Given the description of an element on the screen output the (x, y) to click on. 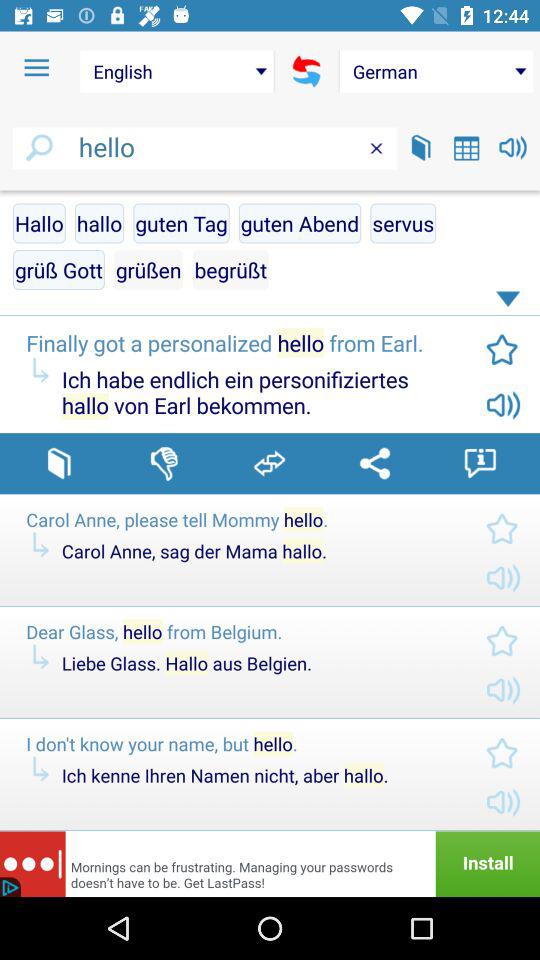
scroll to i don t (239, 743)
